Given the description of an element on the screen output the (x, y) to click on. 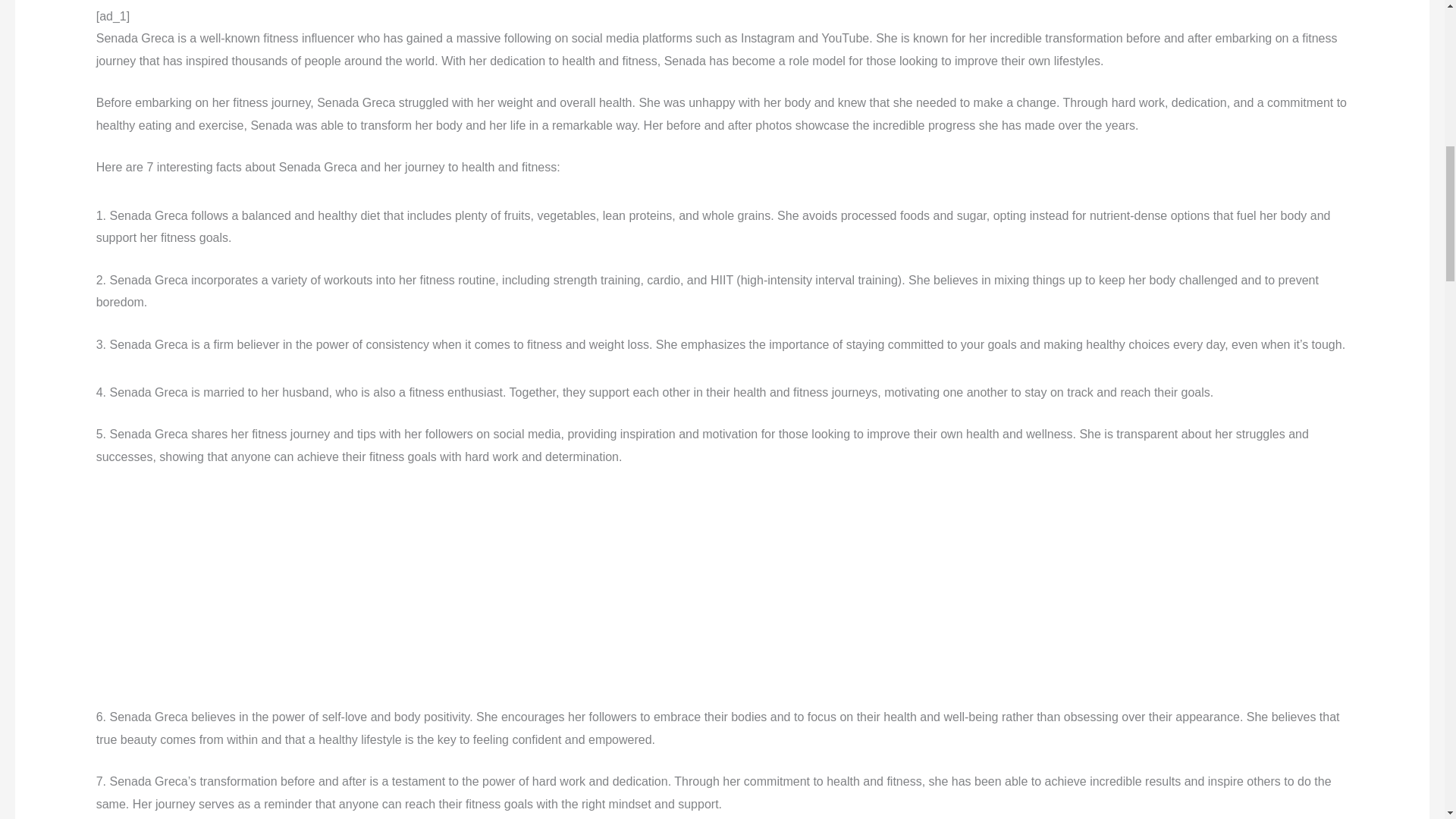
Advertisement (303, 593)
